Given the description of an element on the screen output the (x, y) to click on. 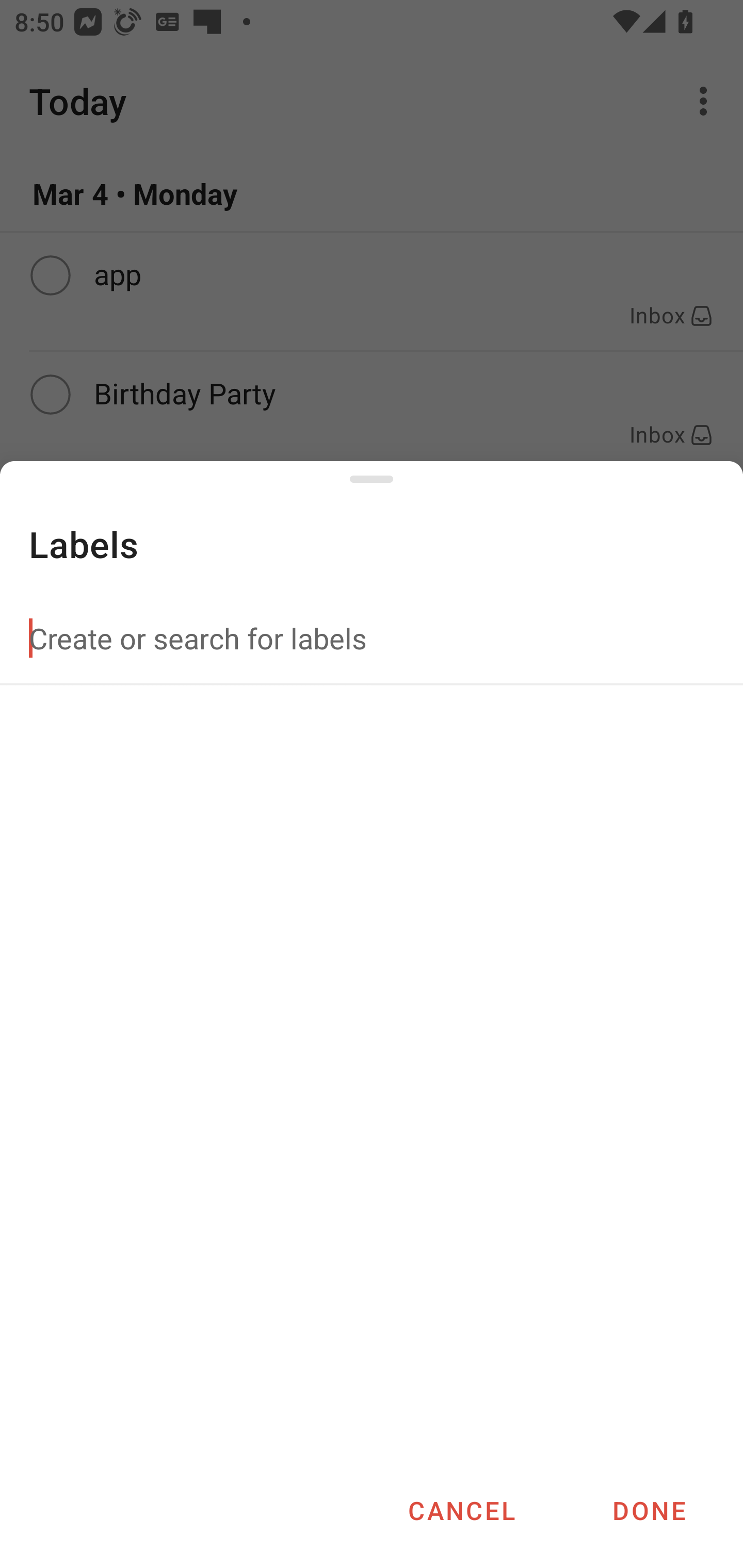
Create or search for labels (371, 638)
CANCEL (460, 1510)
DONE (648, 1510)
